Given the description of an element on the screen output the (x, y) to click on. 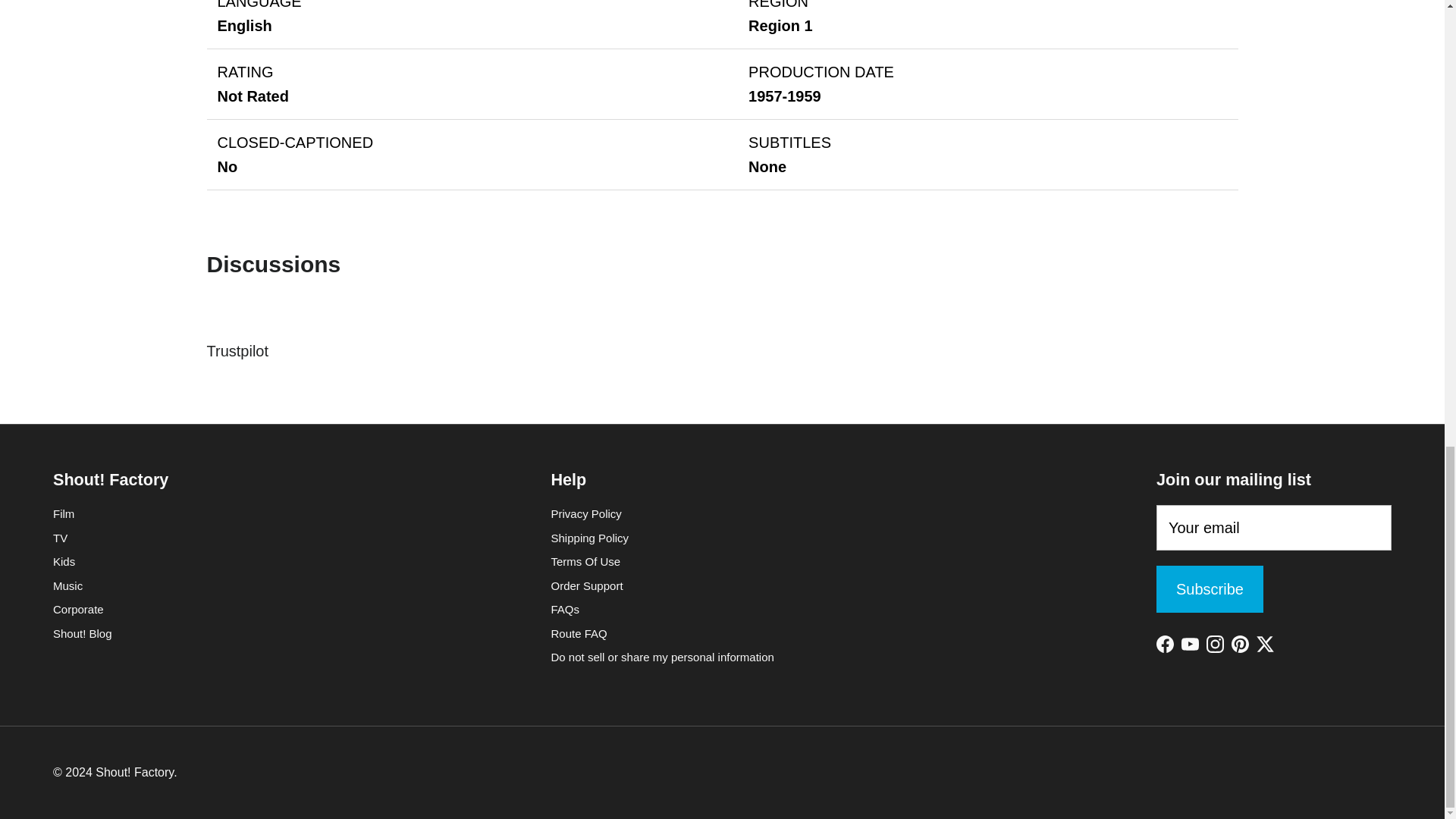
Shout! Factory on Facebook (1164, 643)
Shout! Factory on Pinterest (1240, 643)
Shout! Factory on Twitter (1265, 643)
Shout! Factory on Instagram (1215, 643)
Shout! Factory on YouTube (1189, 643)
